Given the description of an element on the screen output the (x, y) to click on. 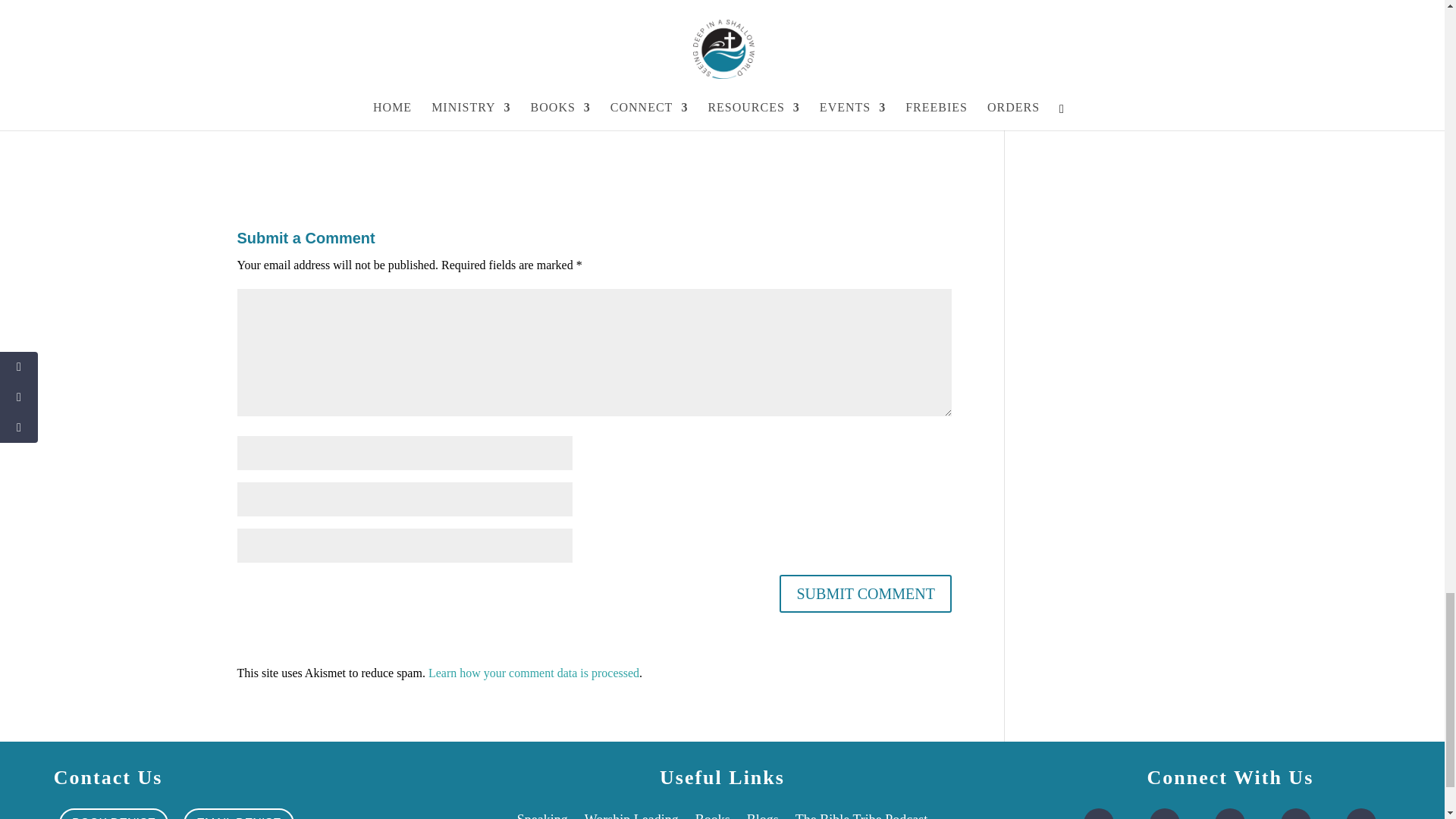
Submit Comment (864, 593)
